Given the description of an element on the screen output the (x, y) to click on. 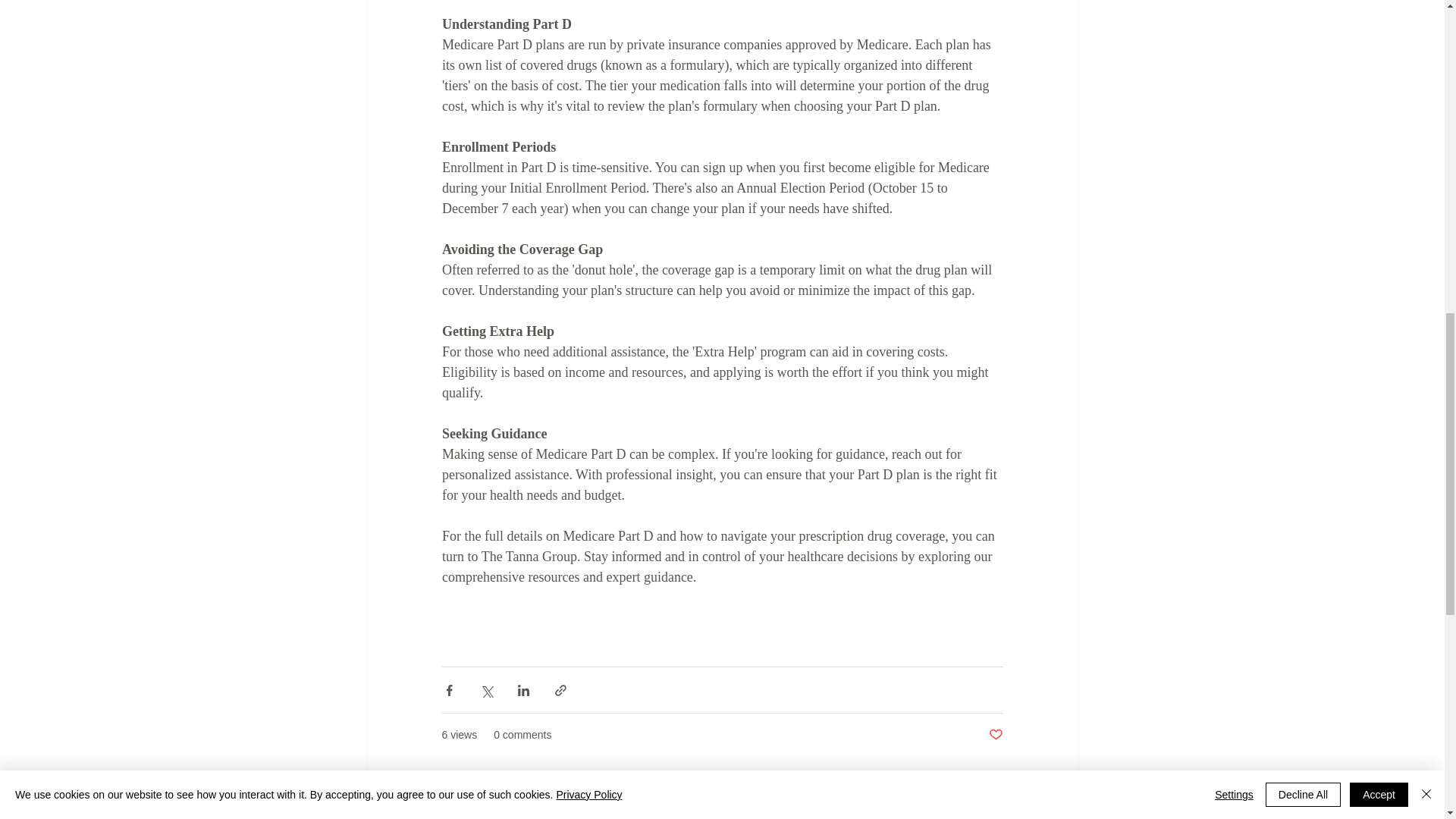
Post not marked as liked (995, 734)
See All (1061, 812)
